Given the description of an element on the screen output the (x, y) to click on. 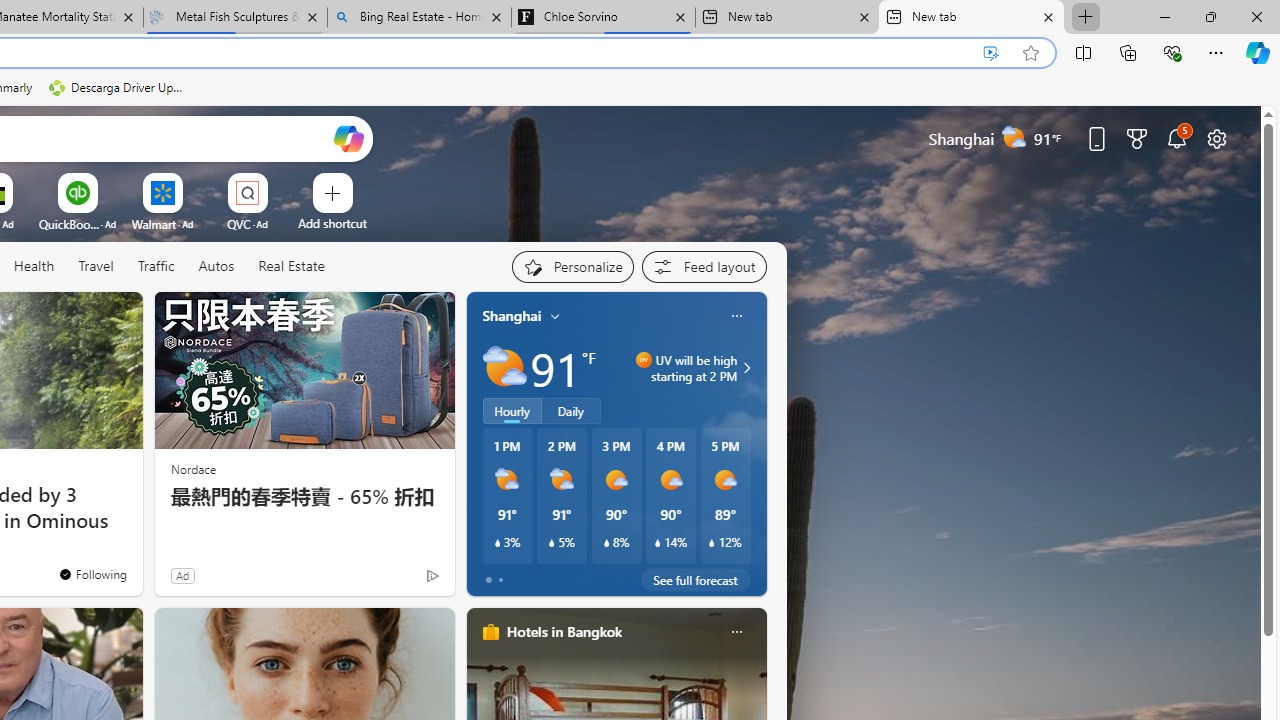
Hourly (511, 411)
Health (34, 265)
Partly sunny (504, 368)
UV will be high starting at 2 PM (744, 367)
tab-0 (488, 579)
My location (555, 315)
Travel (95, 265)
Autos (216, 267)
Travel (95, 267)
